Given the description of an element on the screen output the (x, y) to click on. 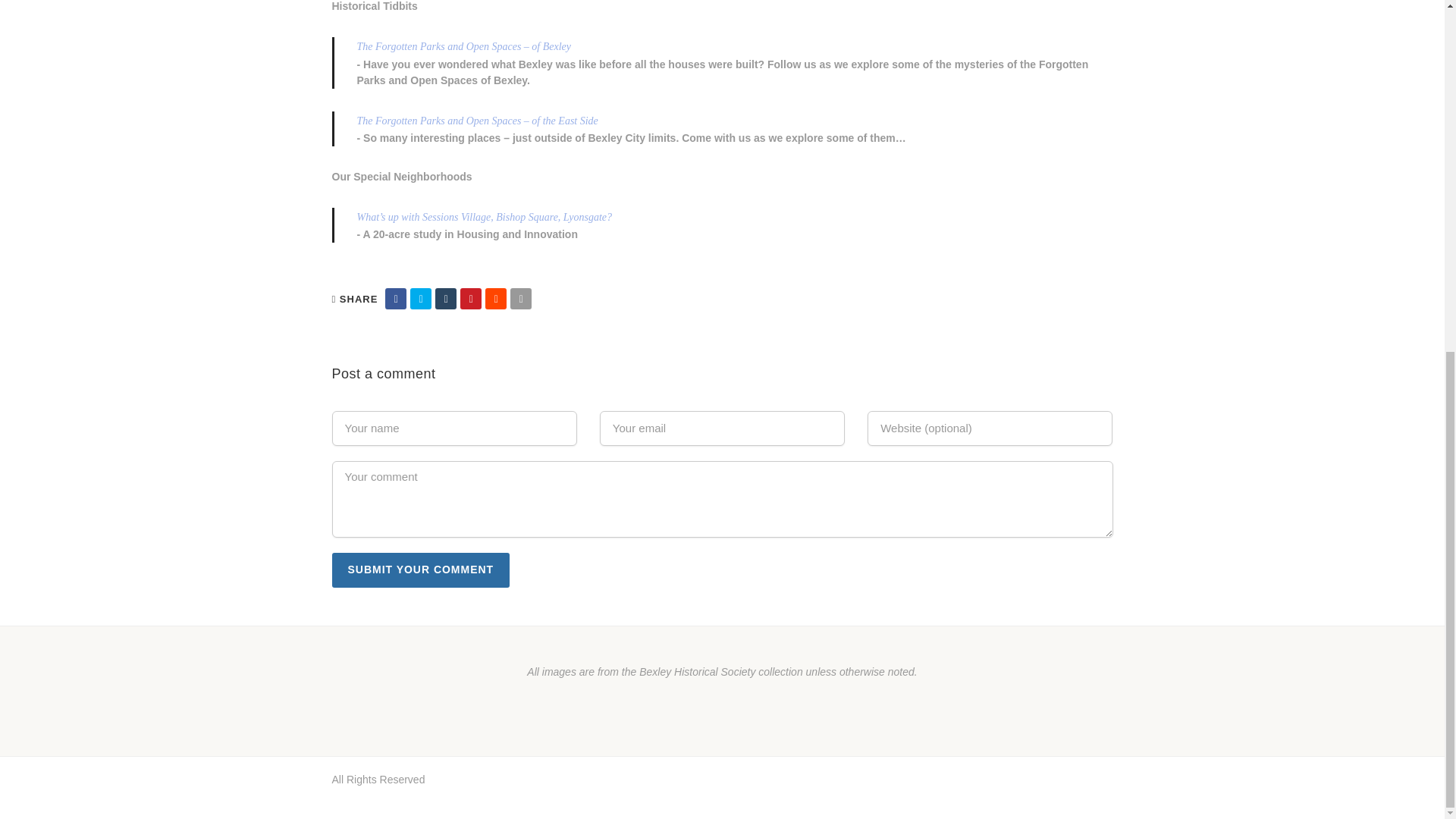
Pin it (470, 298)
Share on Facebook (395, 298)
Submit to Reddit (495, 298)
Post to Tumblr (446, 298)
Submit your comment (421, 569)
Submit your comment (421, 569)
Tweet (420, 298)
Email (521, 298)
